Given the description of an element on the screen output the (x, y) to click on. 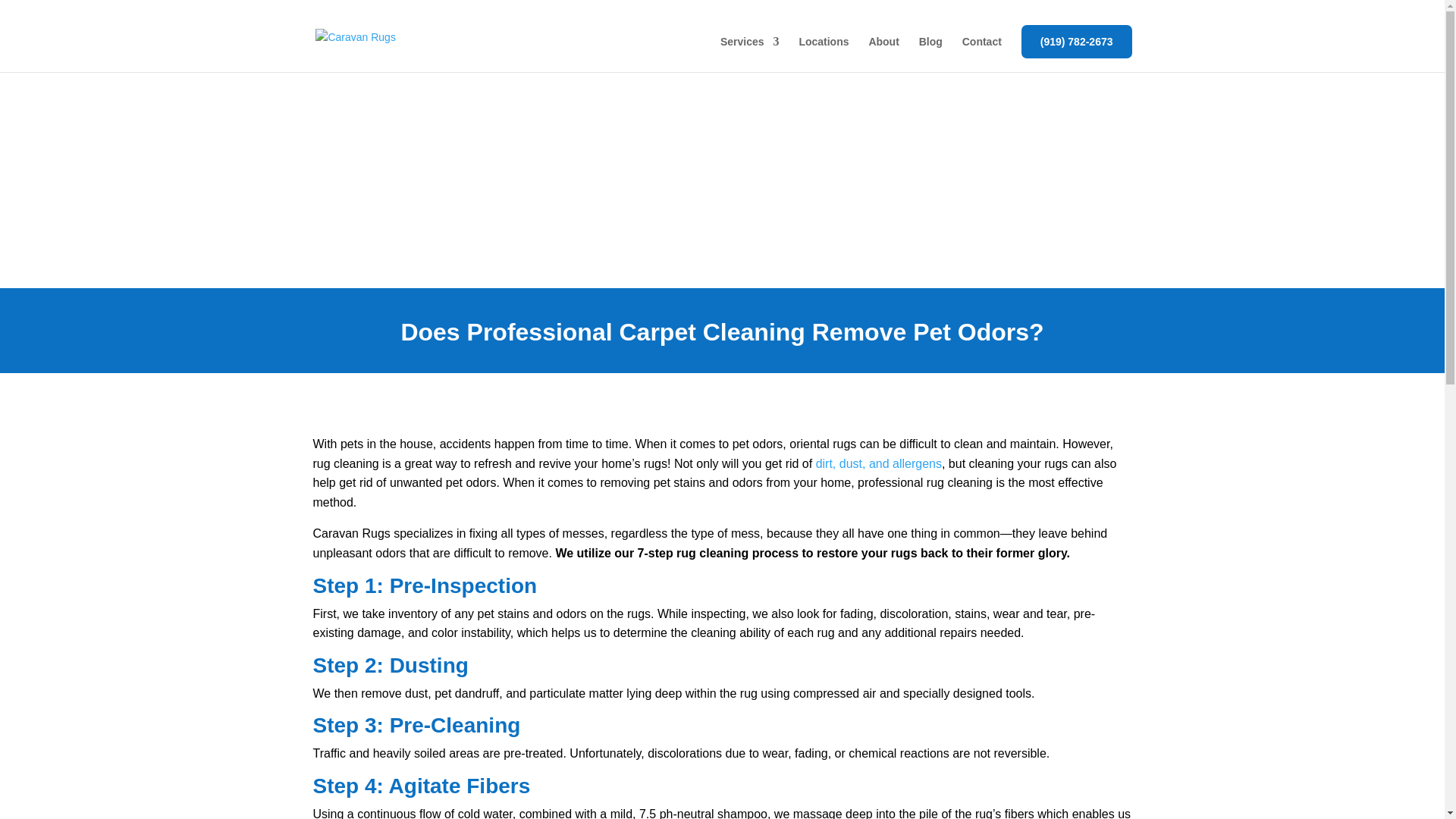
Contact (981, 54)
dirt, dust, and allergens (878, 463)
Locations (822, 54)
Services (749, 54)
